Given the description of an element on the screen output the (x, y) to click on. 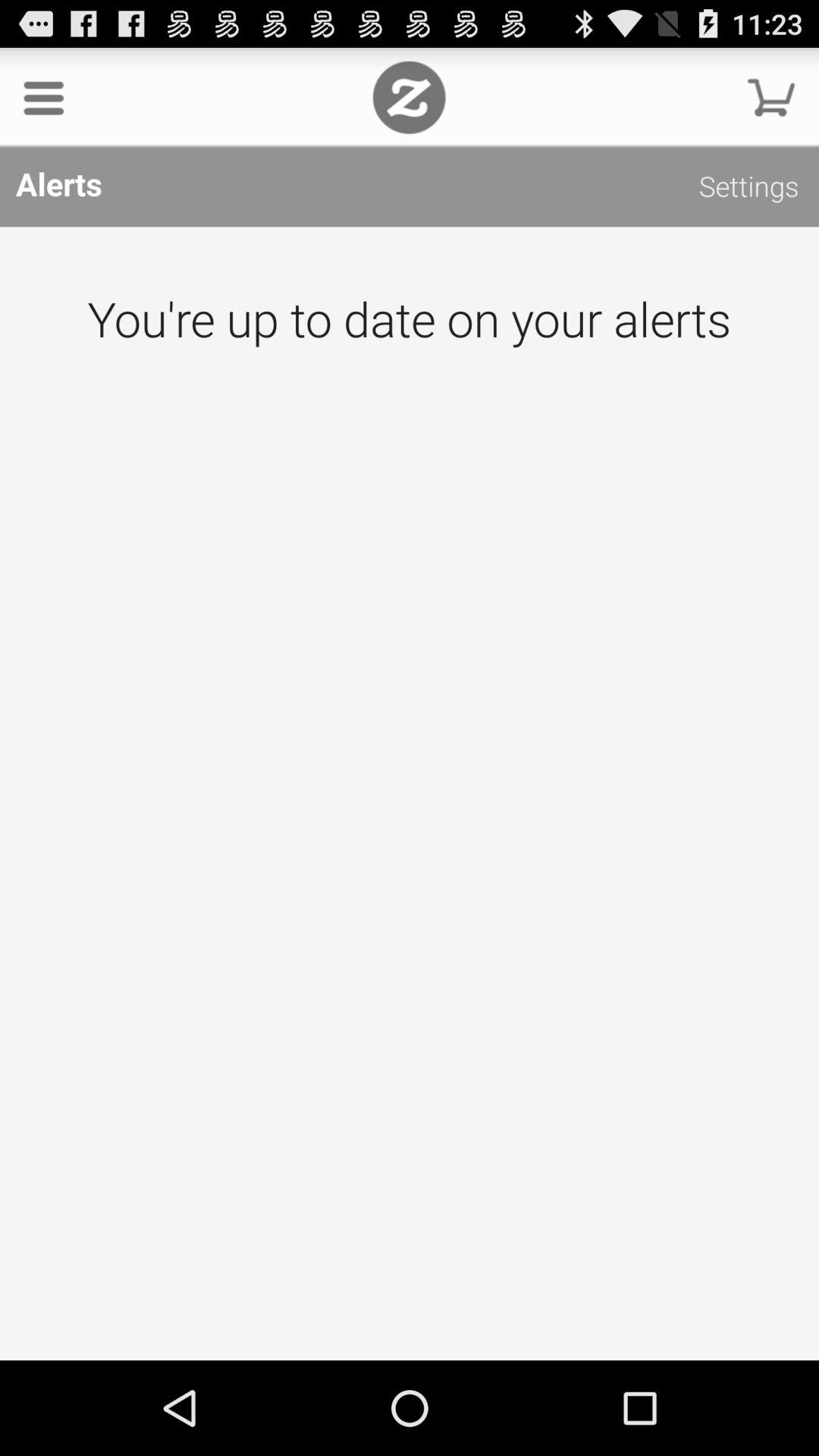
continue with shopping (771, 97)
